Given the description of an element on the screen output the (x, y) to click on. 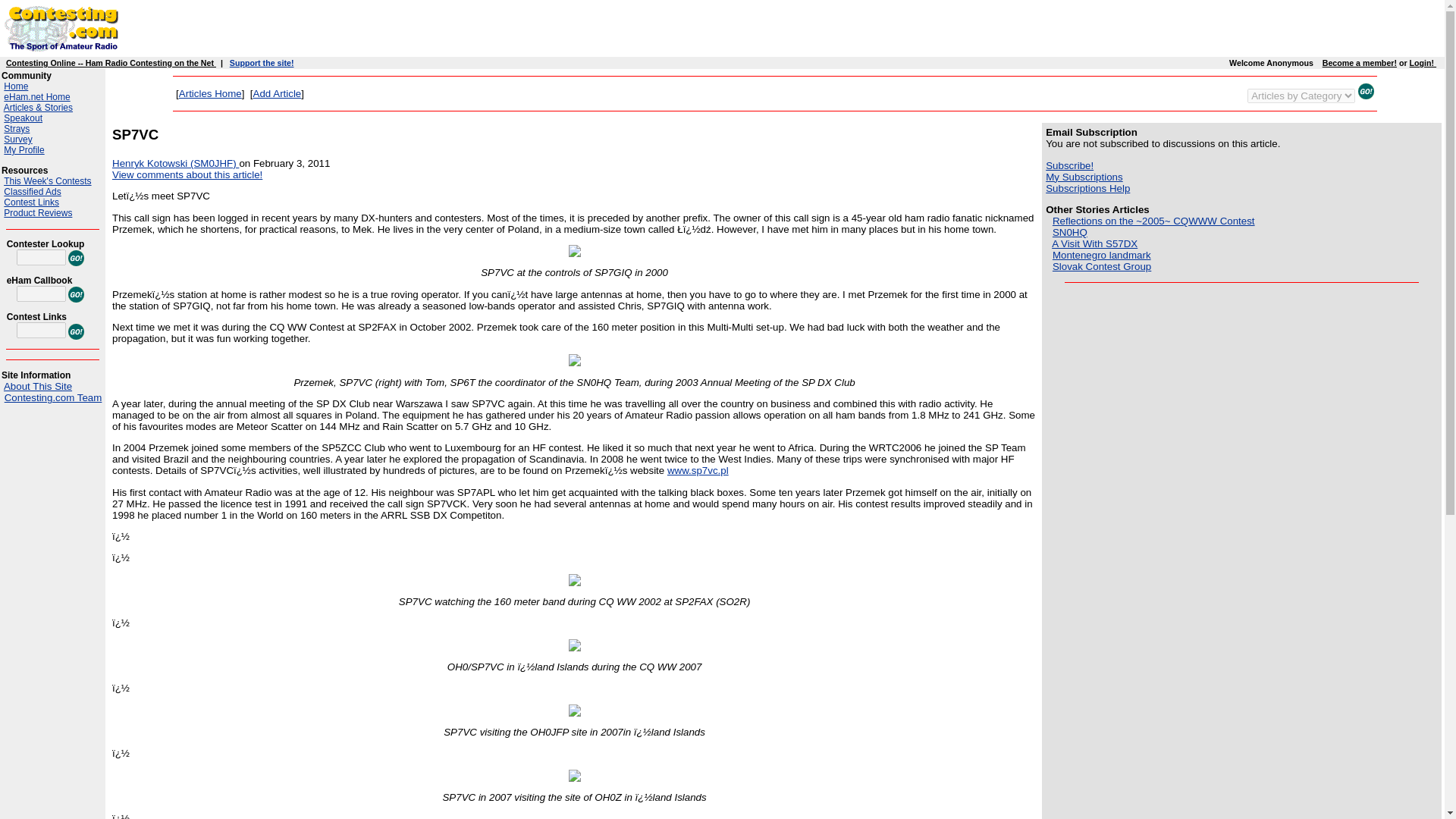
Classified Ads (32, 191)
Home (15, 86)
View comments about this article! (187, 174)
Contesting Online -- Ham Radio Contesting on the Net (110, 62)
Montenegro landmark (1101, 255)
Articles Home (210, 93)
Contesting.com Team (52, 397)
Subscriptions Help (1087, 188)
Product Reviews (37, 213)
Strays (16, 128)
This Week's Contests (47, 181)
Survey (18, 139)
Add Article (277, 93)
Speakout (23, 118)
Login! (1423, 62)
